Given the description of an element on the screen output the (x, y) to click on. 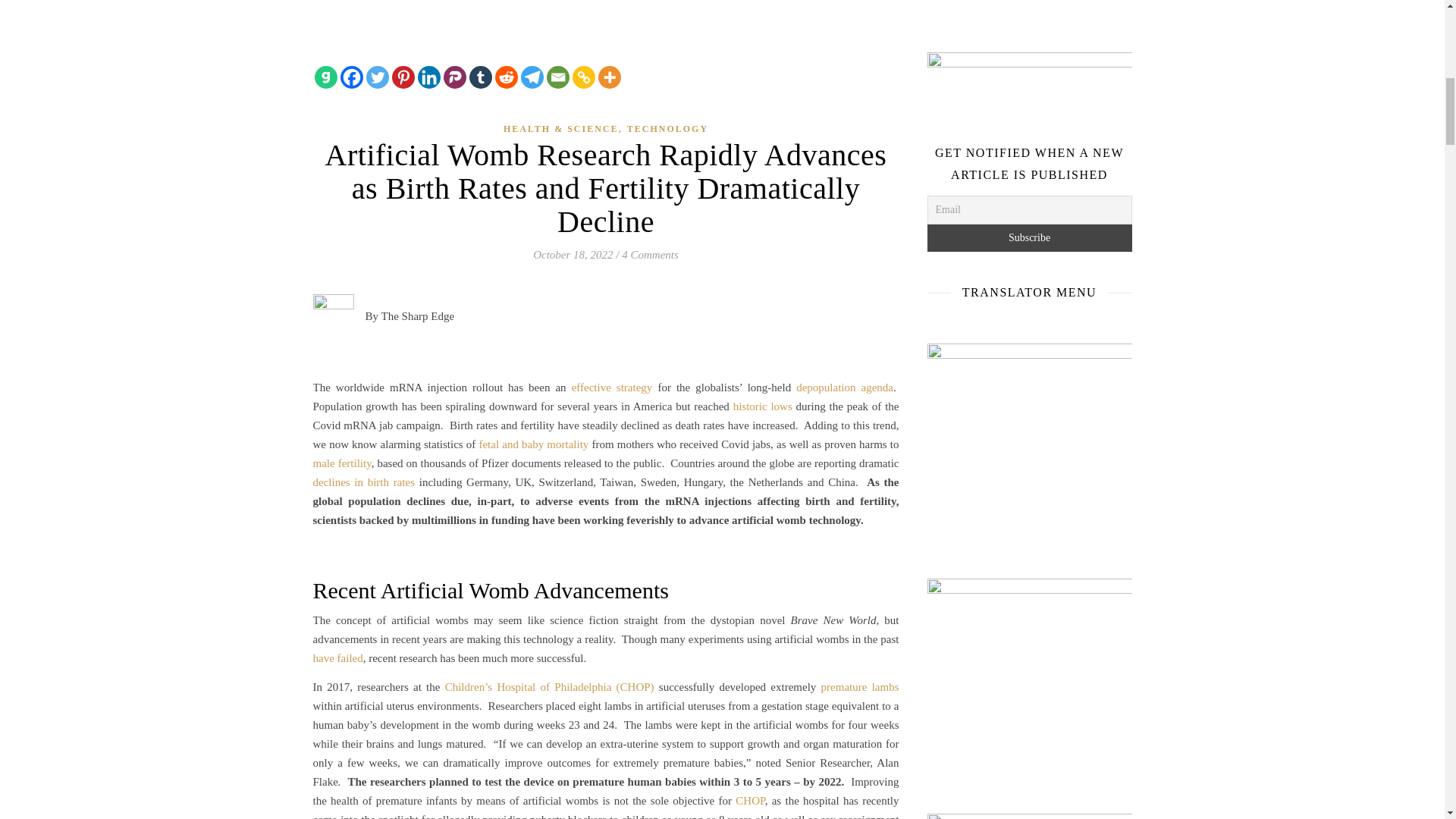
Pinterest (402, 77)
Twitter (376, 77)
More (608, 77)
Gab (325, 77)
Reddit (505, 77)
Tumblr (480, 77)
Parler (453, 77)
Subscribe (1028, 237)
Linkedin (427, 77)
Copy Link (583, 77)
Facebook (350, 77)
Email (557, 77)
Telegram (531, 77)
